Given the description of an element on the screen output the (x, y) to click on. 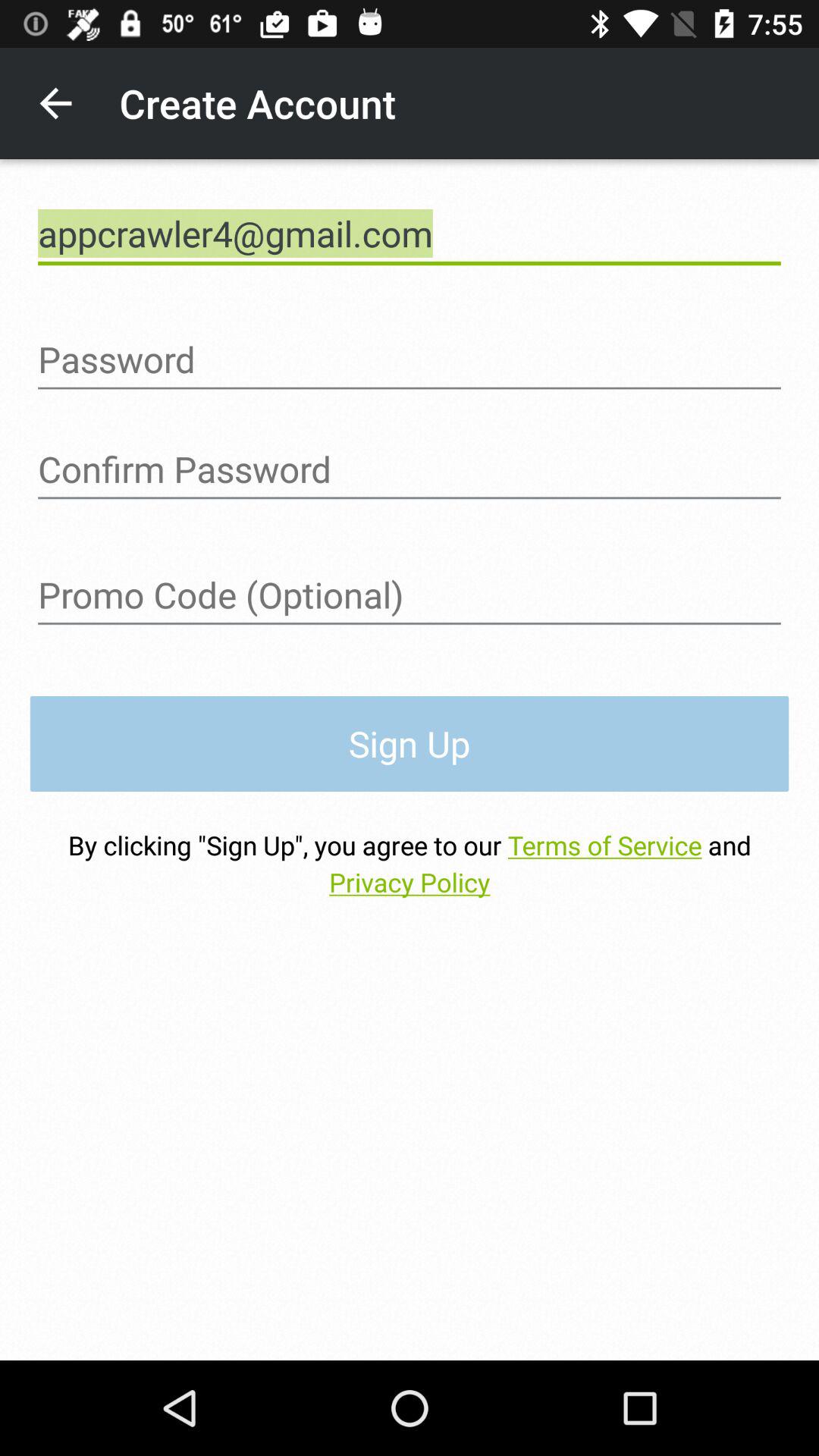
input text data (409, 595)
